Given the description of an element on the screen output the (x, y) to click on. 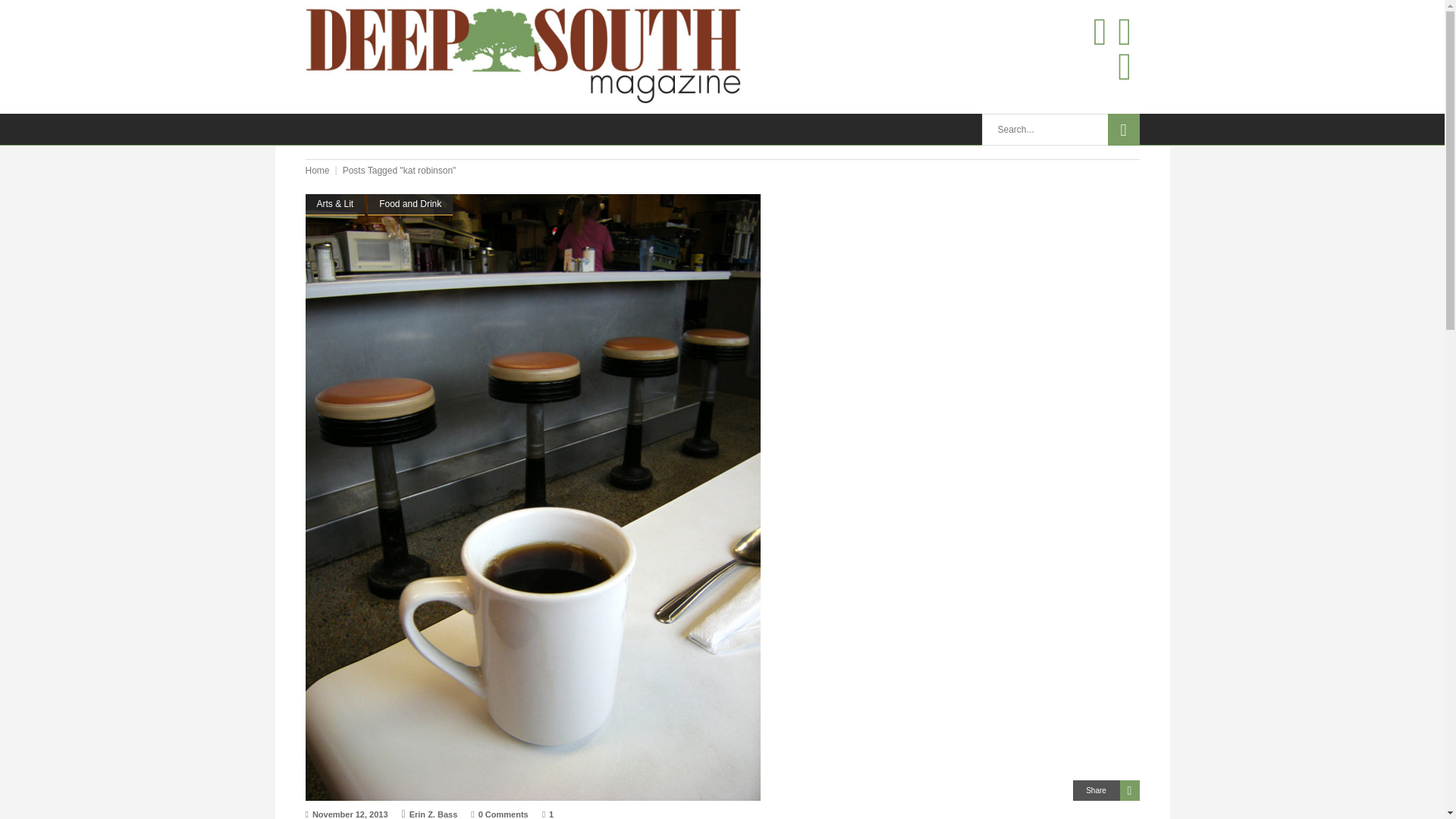
Like this (547, 814)
Search (1122, 129)
